Given the description of an element on the screen output the (x, y) to click on. 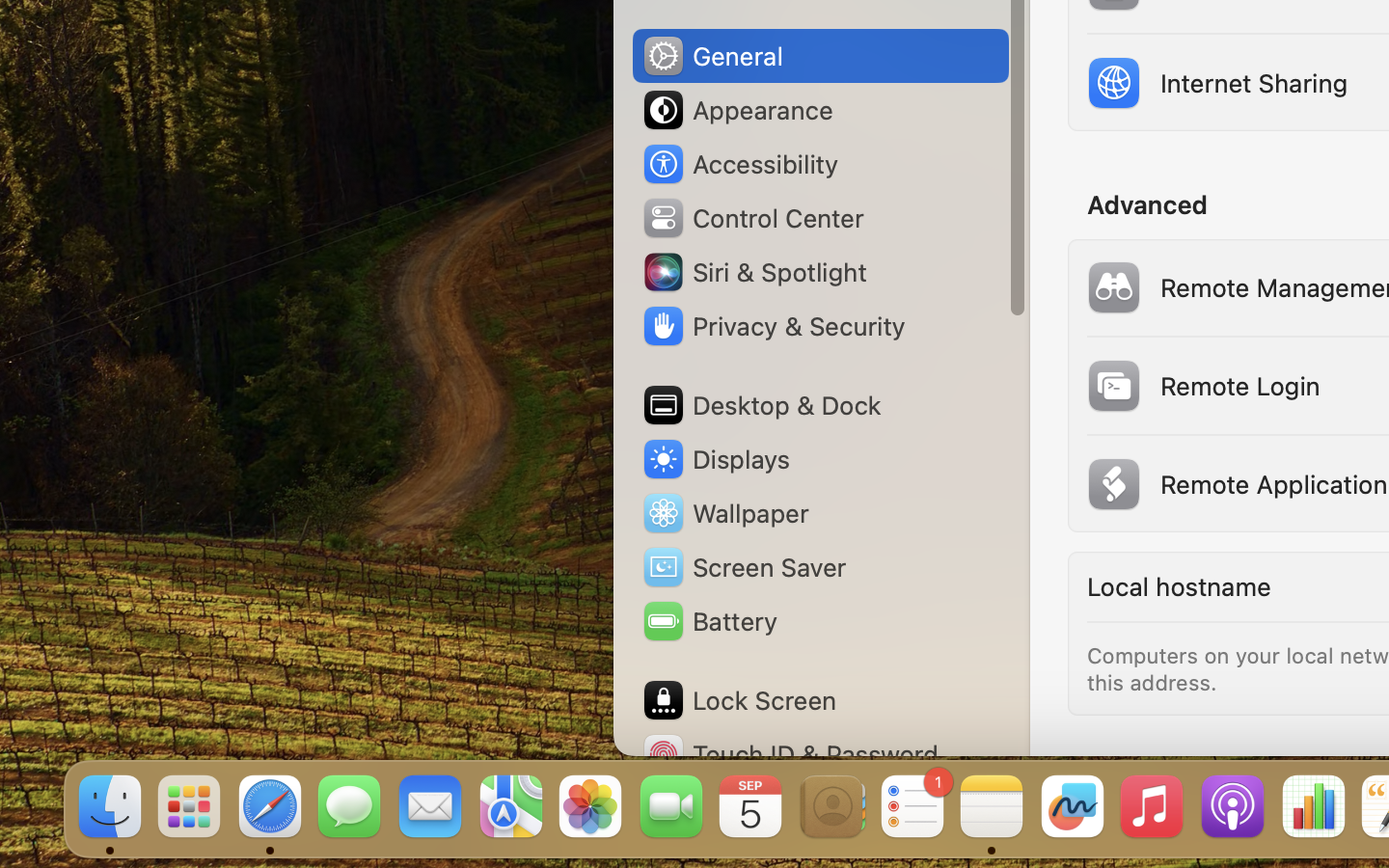
Screen Saver Element type: AXStaticText (743, 566)
